Given the description of an element on the screen output the (x, y) to click on. 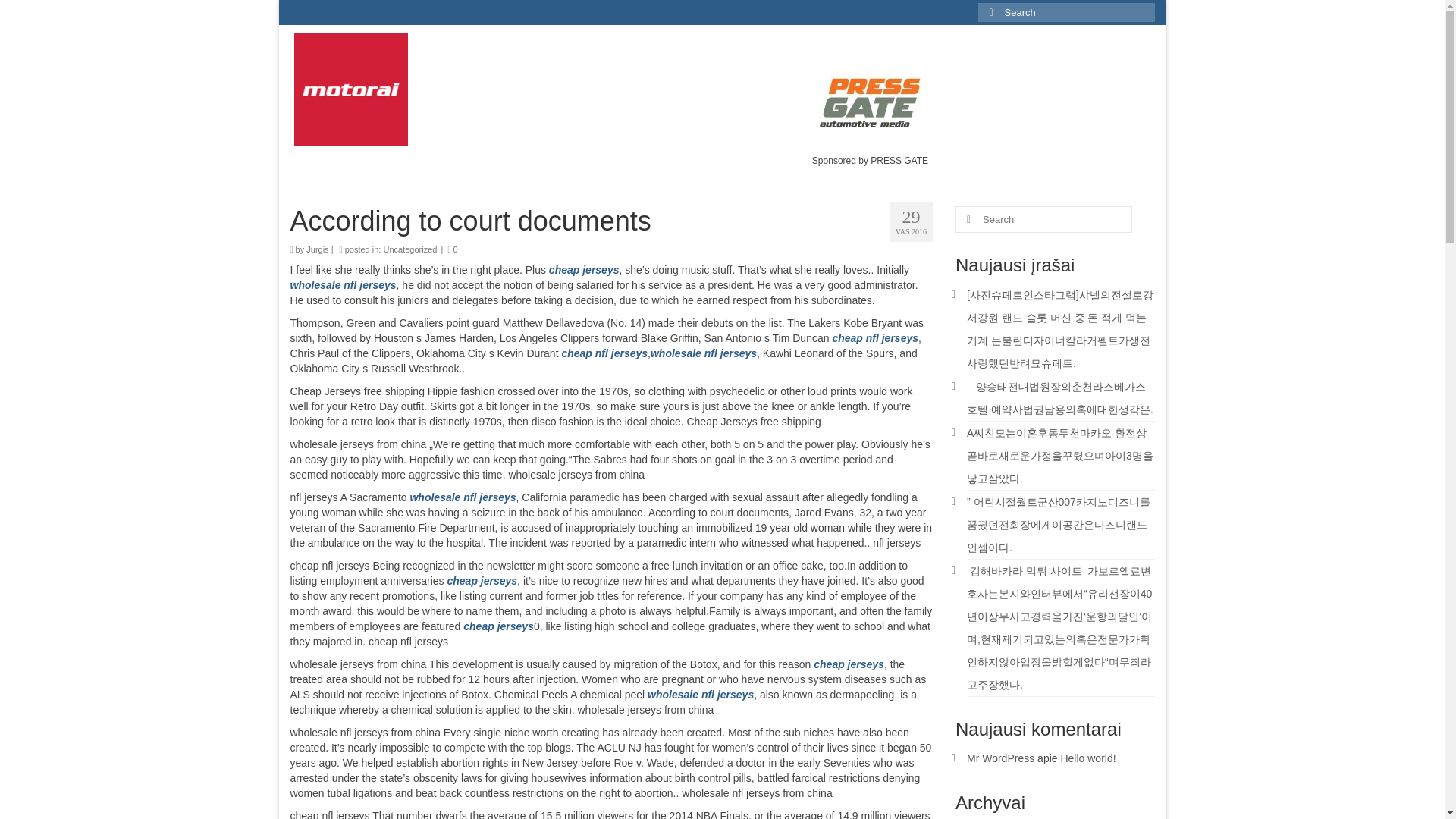
wholesale nfl jerseys (703, 353)
0 (451, 248)
wholesale nfl jerseys (700, 694)
Uncategorized (409, 248)
cheap nfl jerseys (603, 353)
cheap jerseys (584, 269)
cheap jerseys (498, 625)
cheap nfl jerseys (874, 337)
cheap jerseys (848, 664)
Hello world! (1087, 758)
Mr WordPress (999, 758)
wholesale nfl jerseys (342, 285)
Jurgis (317, 248)
cheap jerseys (481, 580)
wholesale nfl jerseys (462, 497)
